Given the description of an element on the screen output the (x, y) to click on. 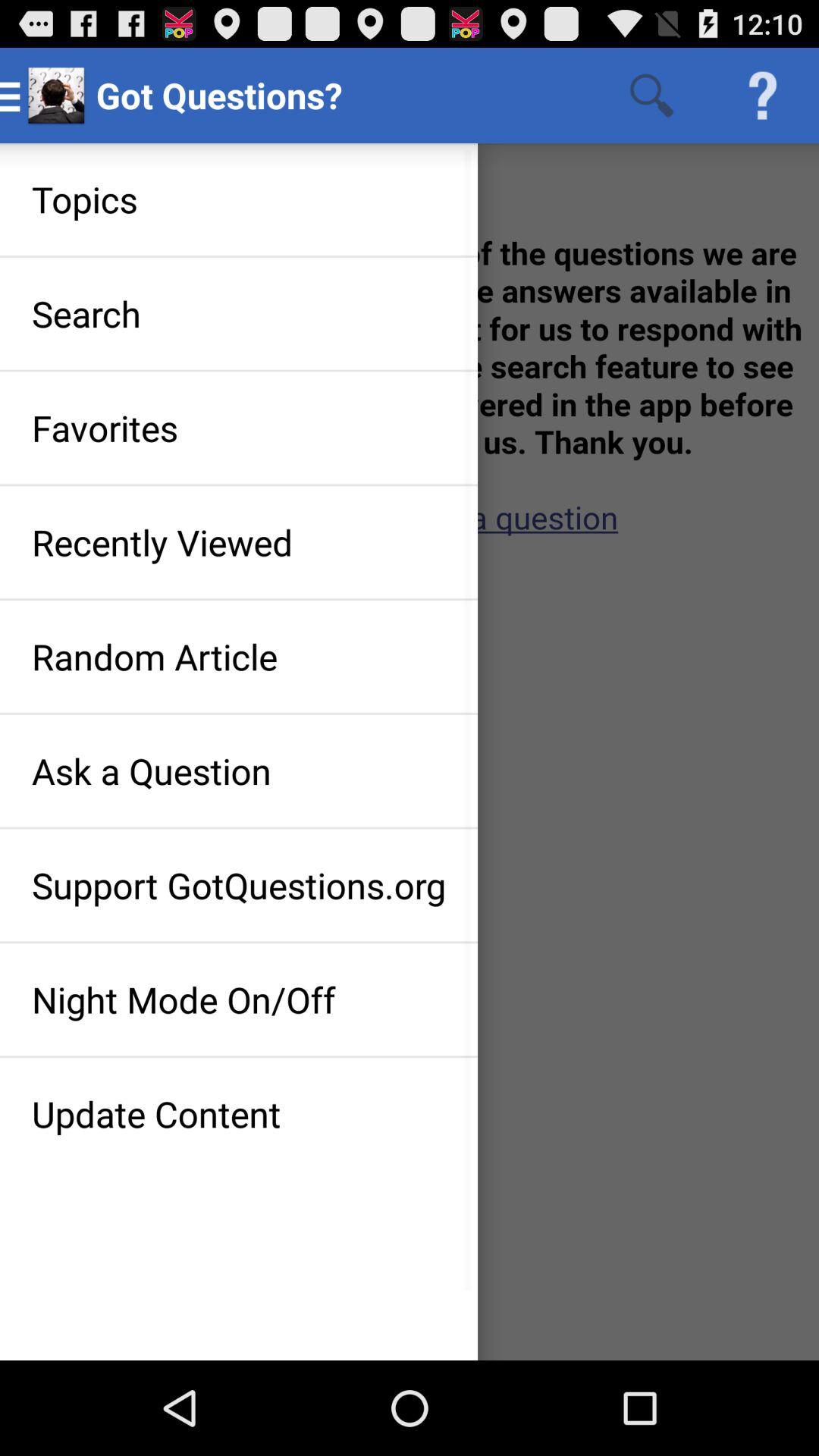
click on the search icon (651, 95)
